Given the description of an element on the screen output the (x, y) to click on. 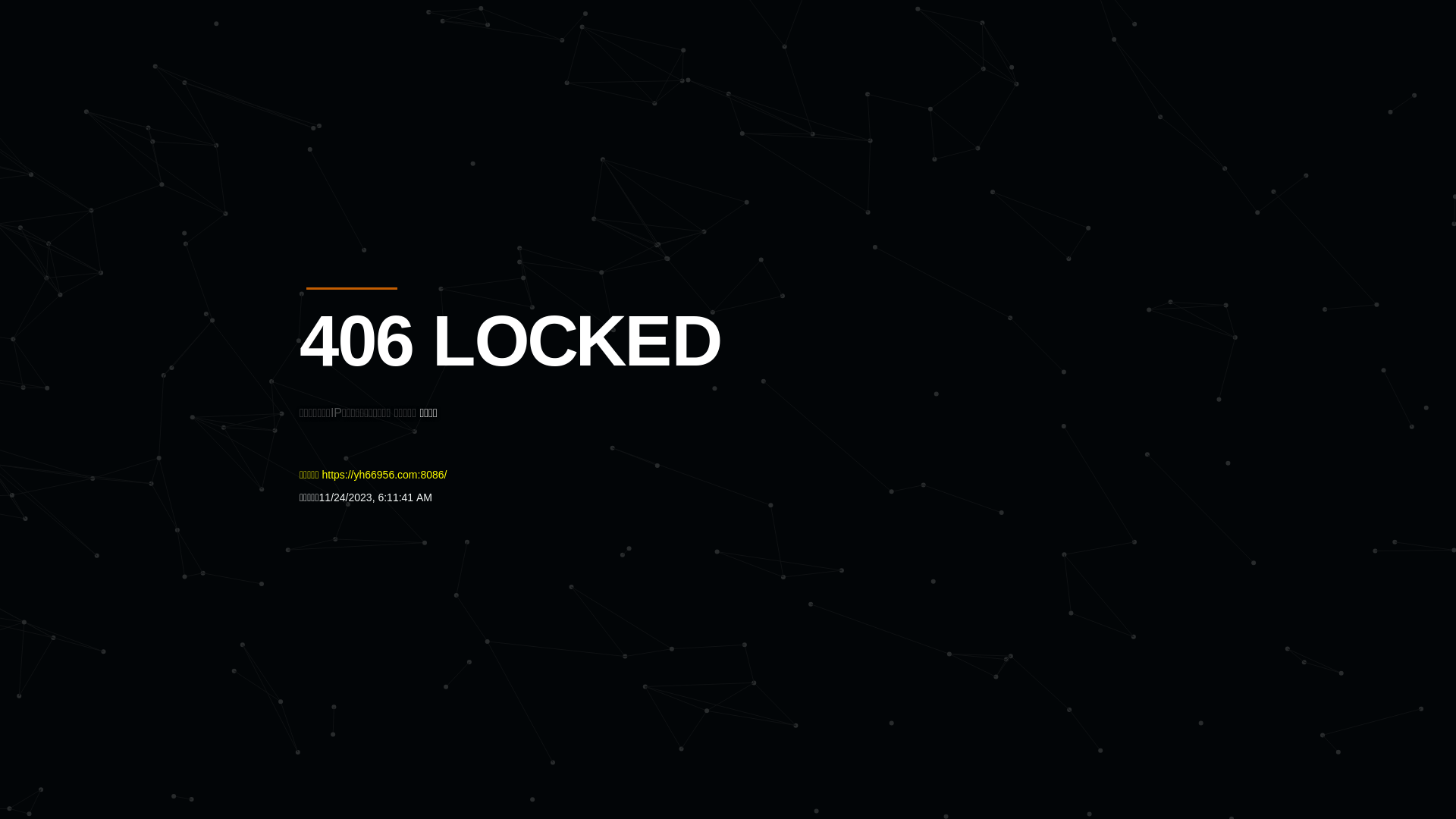
Quatro Element type: text (410, 86)
